Given the description of an element on the screen output the (x, y) to click on. 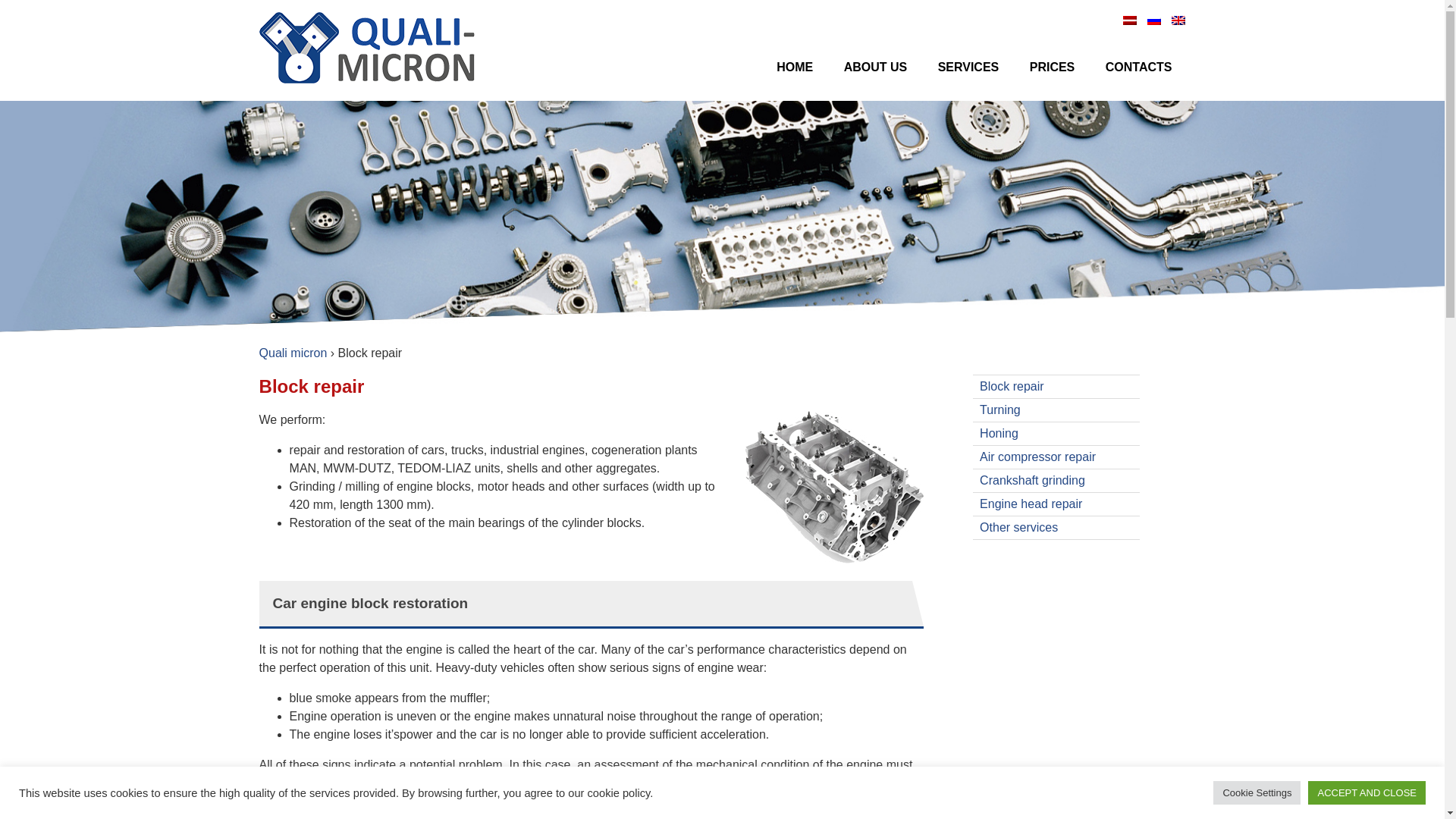
Other services (1018, 526)
Quali micron (293, 352)
Cookie Settings (1256, 792)
Engine head repair (1030, 503)
English (1178, 20)
HOME (794, 68)
Turning (999, 409)
Crankshaft grinding (1031, 480)
Block repair (1011, 386)
SERVICES (968, 68)
